Given the description of an element on the screen output the (x, y) to click on. 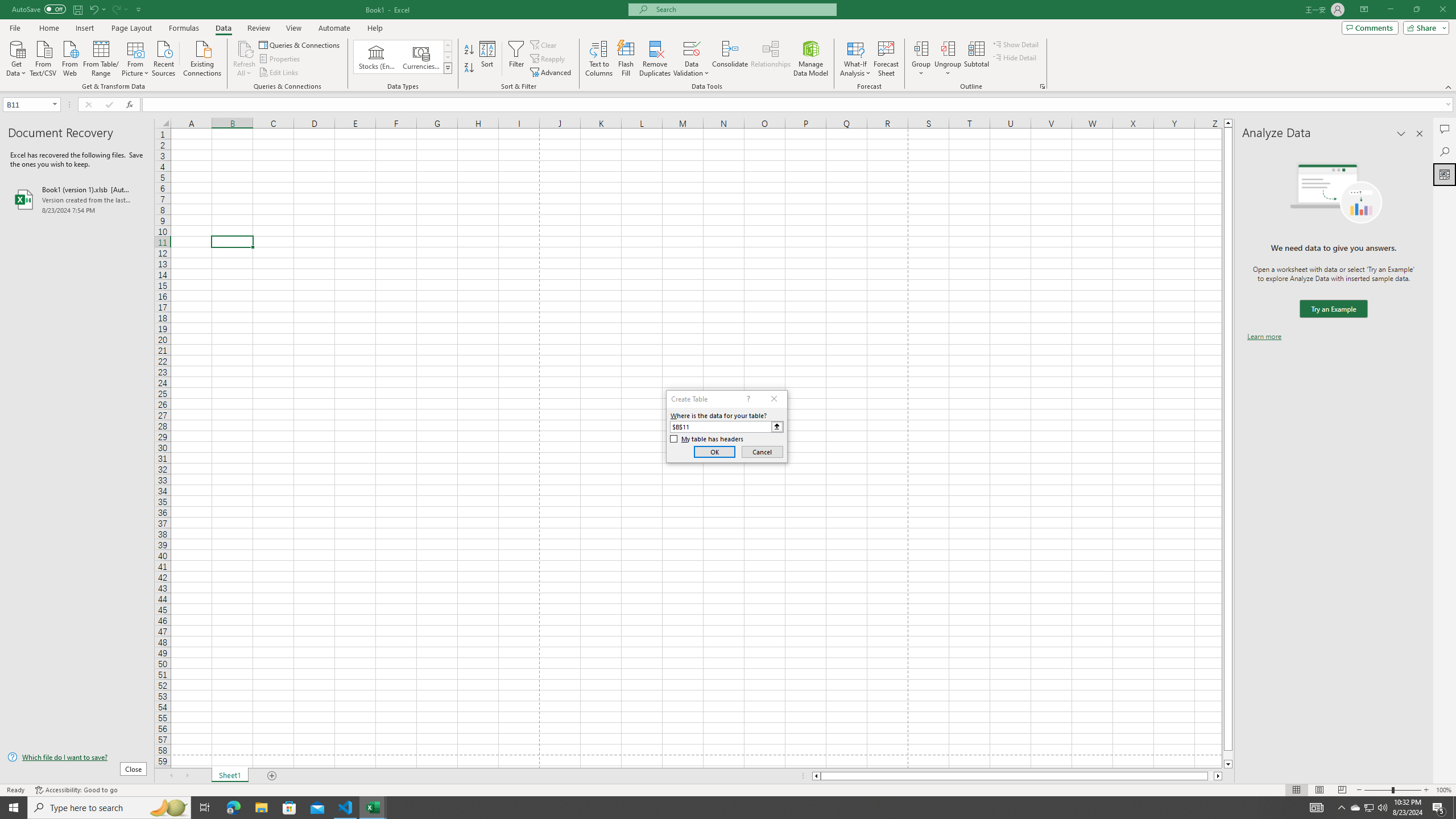
We need data to give you answers. Try an Example (1333, 308)
Stocks (English) (375, 56)
Microsoft search (742, 9)
Flash Fill (625, 58)
AutomationID: ConvertToLinkedEntity (403, 56)
From Table/Range (100, 57)
Ungroup... (947, 58)
Row Down (448, 56)
Relationships (770, 58)
Search (1444, 151)
Refresh All (244, 58)
